Given the description of an element on the screen output the (x, y) to click on. 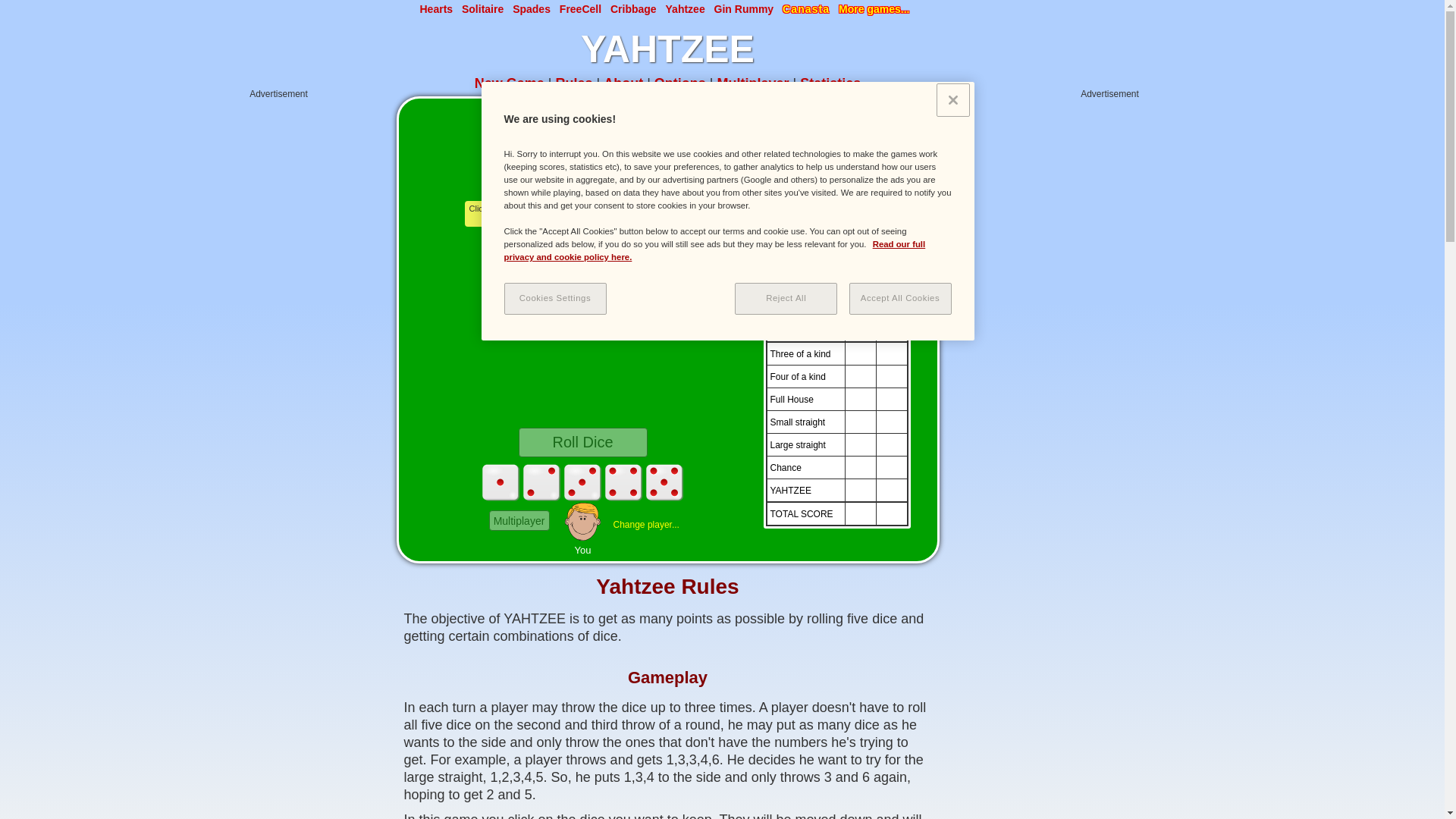
See your statistics (829, 83)
Access the Yahtzee Multiplayer Lobby (753, 83)
Start a new game of Yahtzee against the computer (509, 83)
Rules of Yahtzee (573, 83)
About this version of Yahtzee (623, 83)
Options for Yahtzee (679, 83)
